Given the description of an element on the screen output the (x, y) to click on. 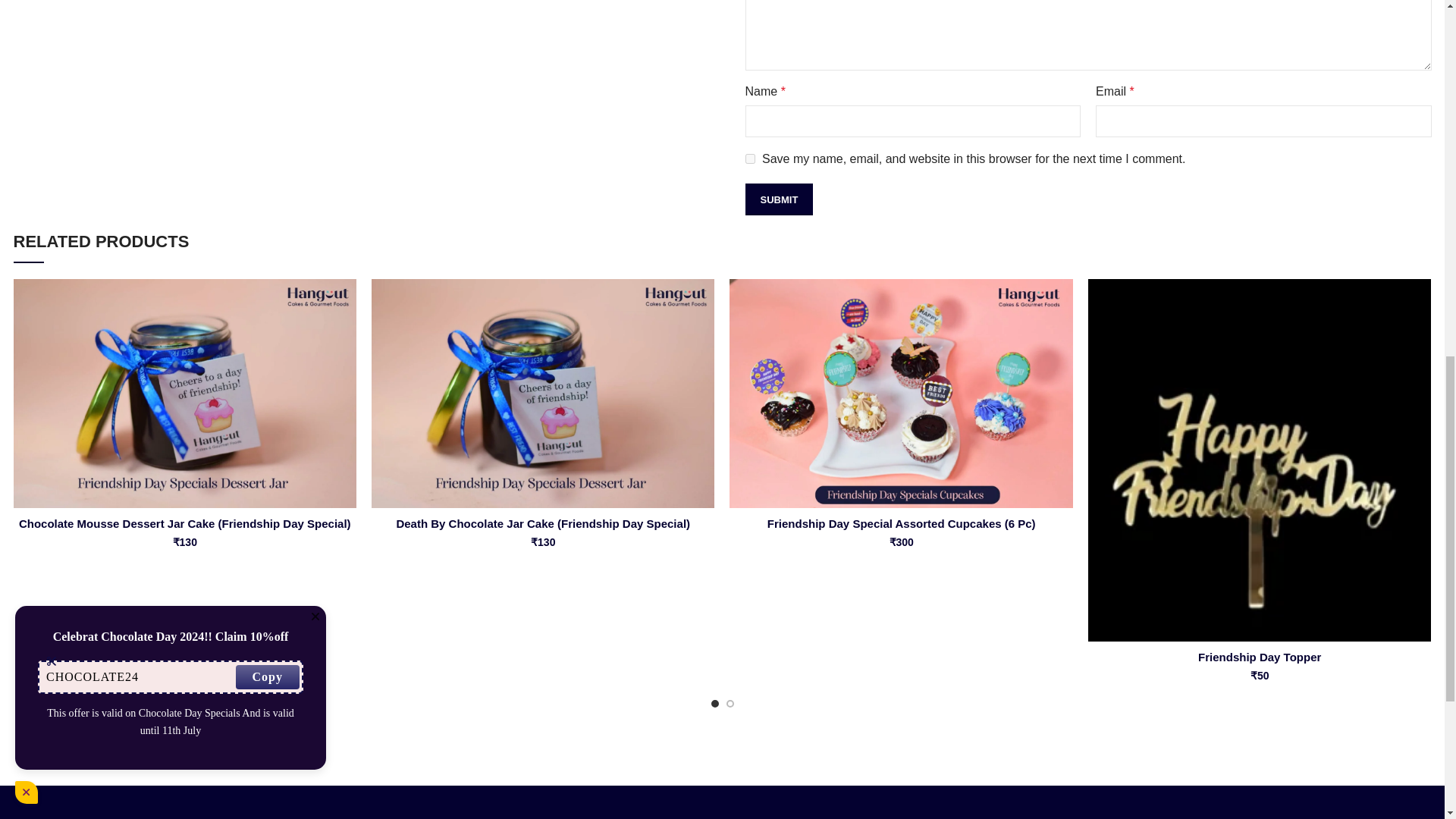
yes (750, 158)
Submit (779, 199)
